Given the description of an element on the screen output the (x, y) to click on. 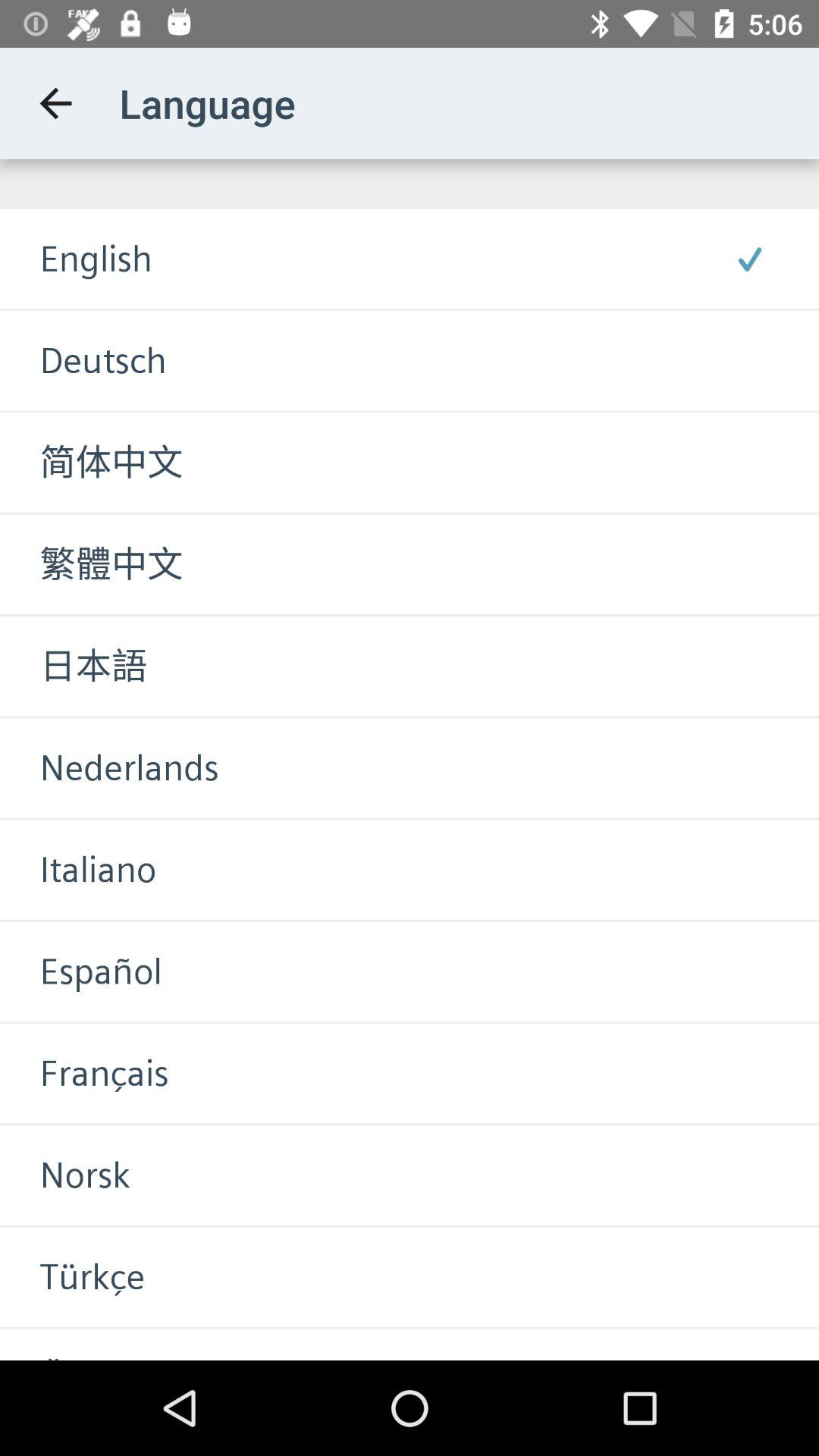
launch item above norsk icon (84, 1073)
